Given the description of an element on the screen output the (x, y) to click on. 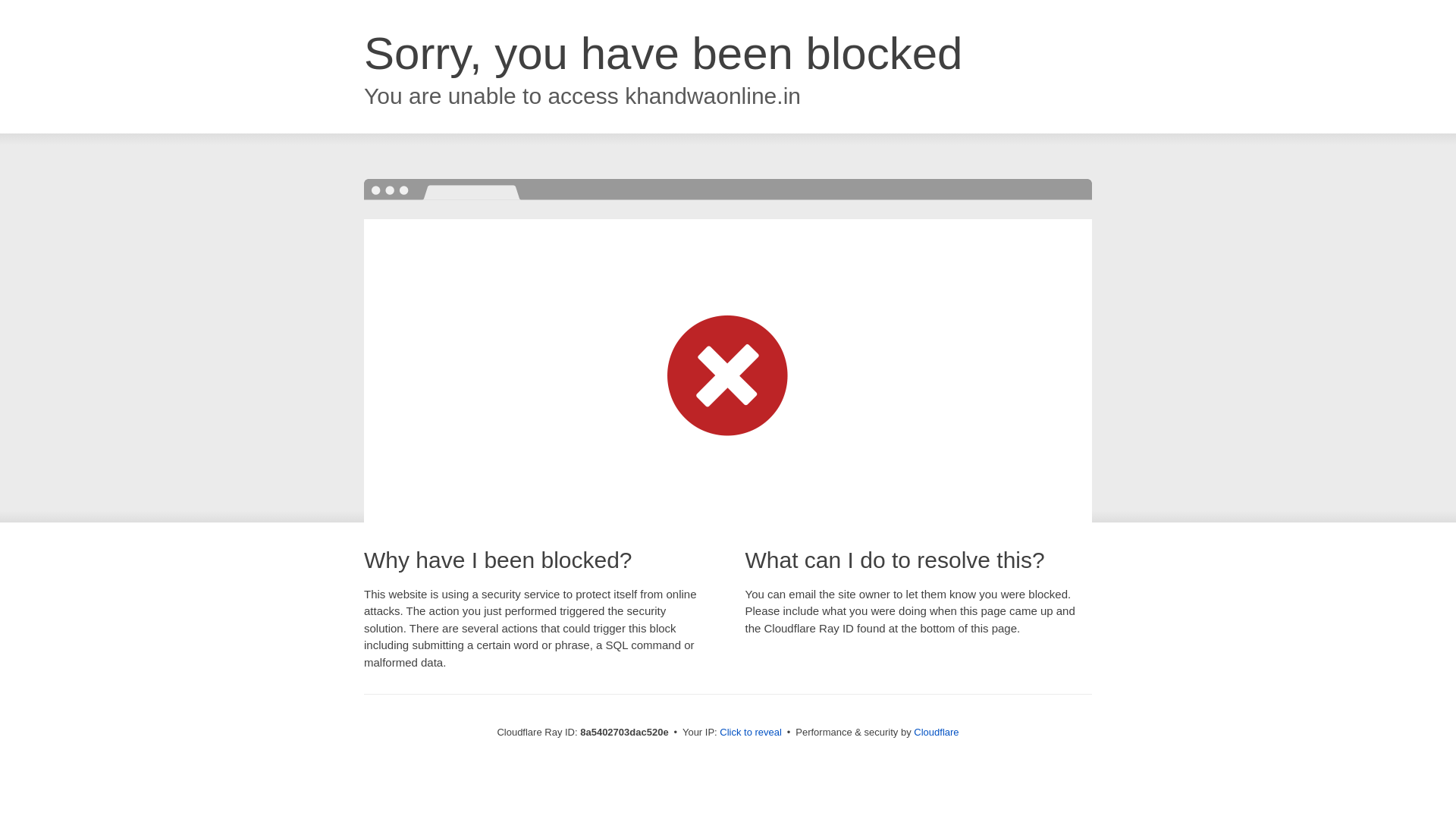
Cloudflare (936, 731)
Click to reveal (750, 732)
